Given the description of an element on the screen output the (x, y) to click on. 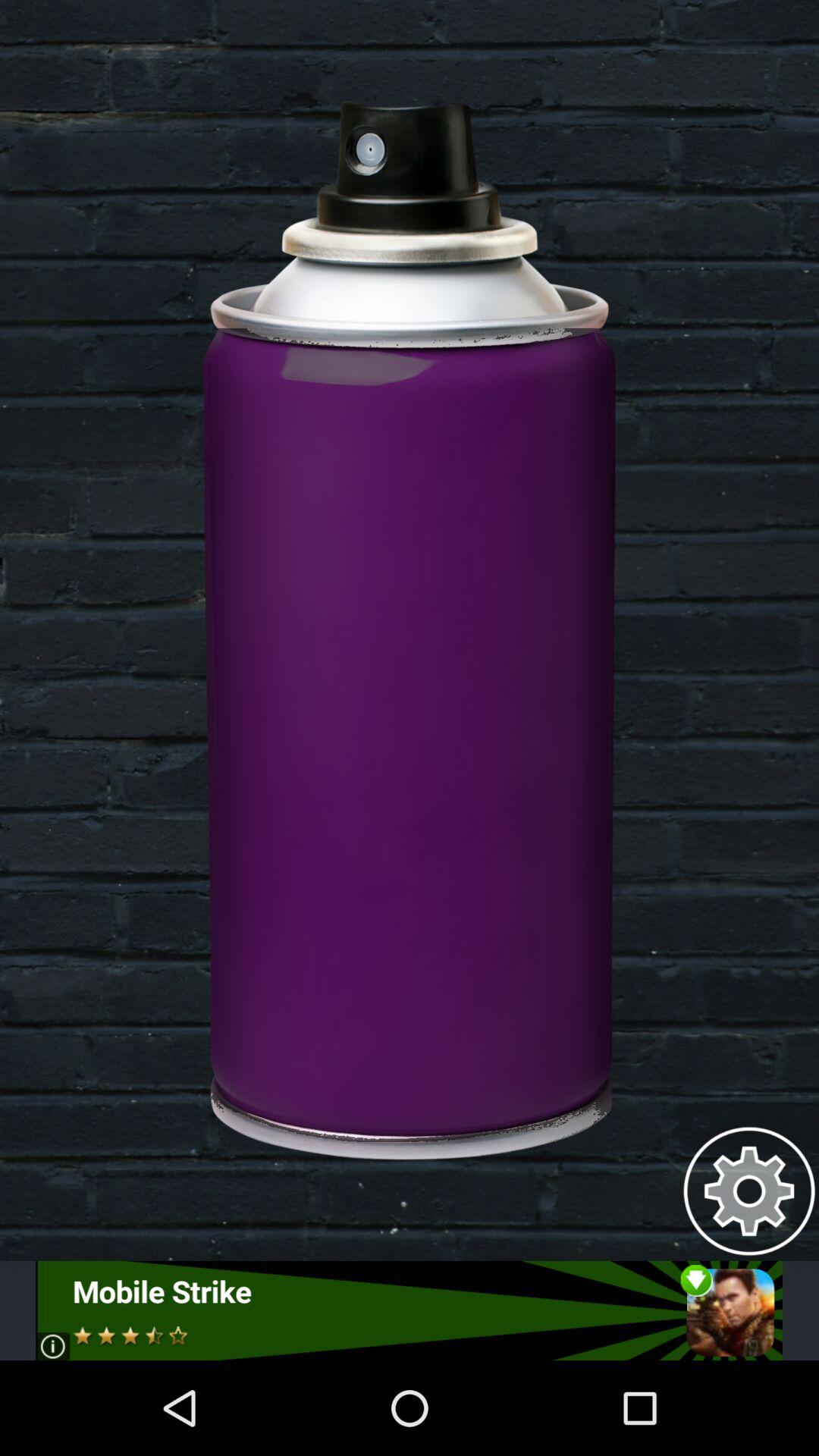
settings (749, 1190)
